Given the description of an element on the screen output the (x, y) to click on. 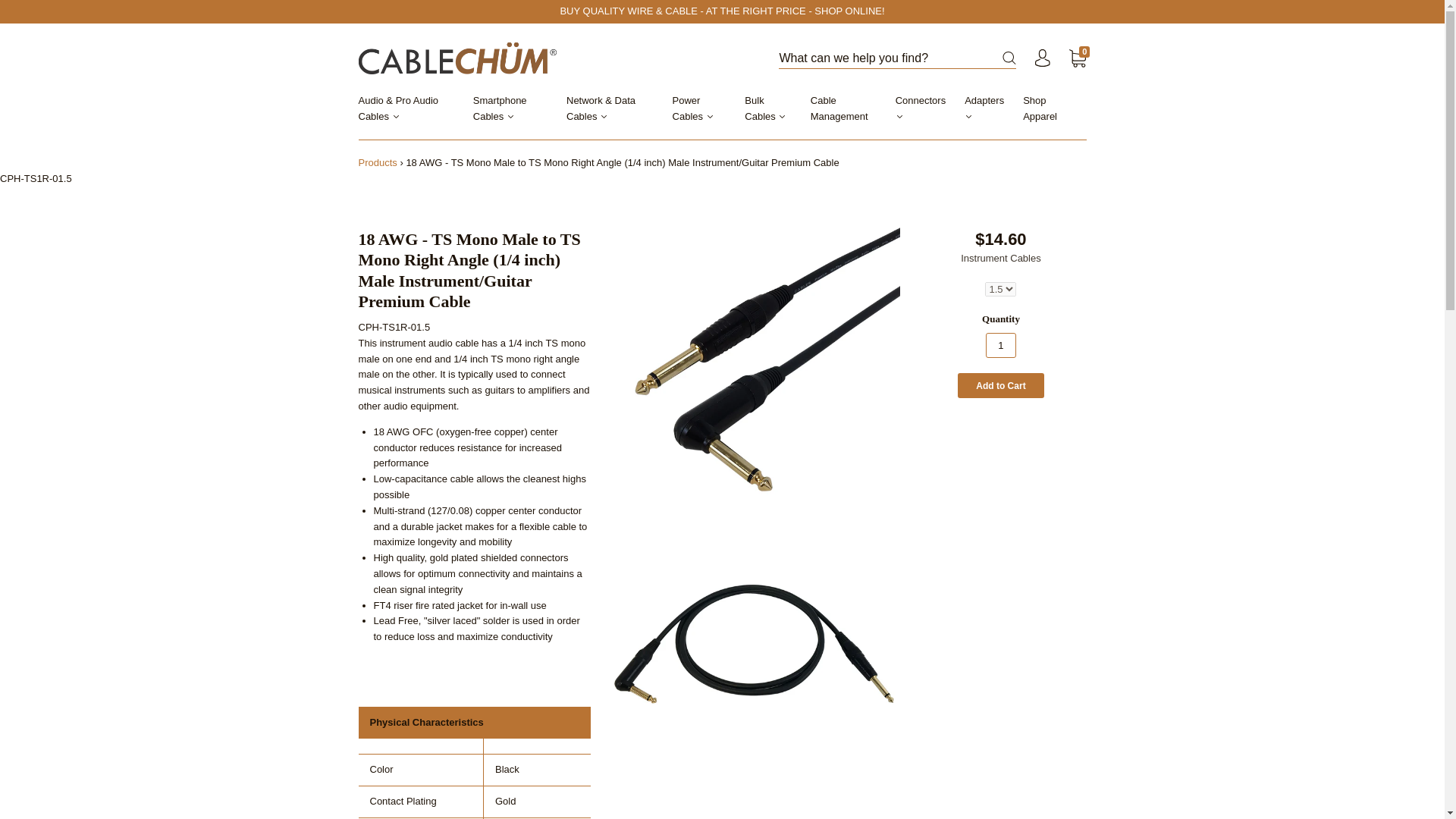
Digital Coax Cables (402, 43)
Audio Extenders (394, 122)
Snake Cables (389, 1)
3.5mm (374, 75)
Apple Cables (503, 1)
0 (1077, 58)
Toslink Cables (391, 28)
2.5mm Cables (505, 43)
Phone Adapters (509, 28)
Subwoofer Cables (399, 12)
2.5mm (374, 59)
Android Smart Phone (520, 12)
1 (1000, 344)
Smartphone Cables (519, 116)
